Given the description of an element on the screen output the (x, y) to click on. 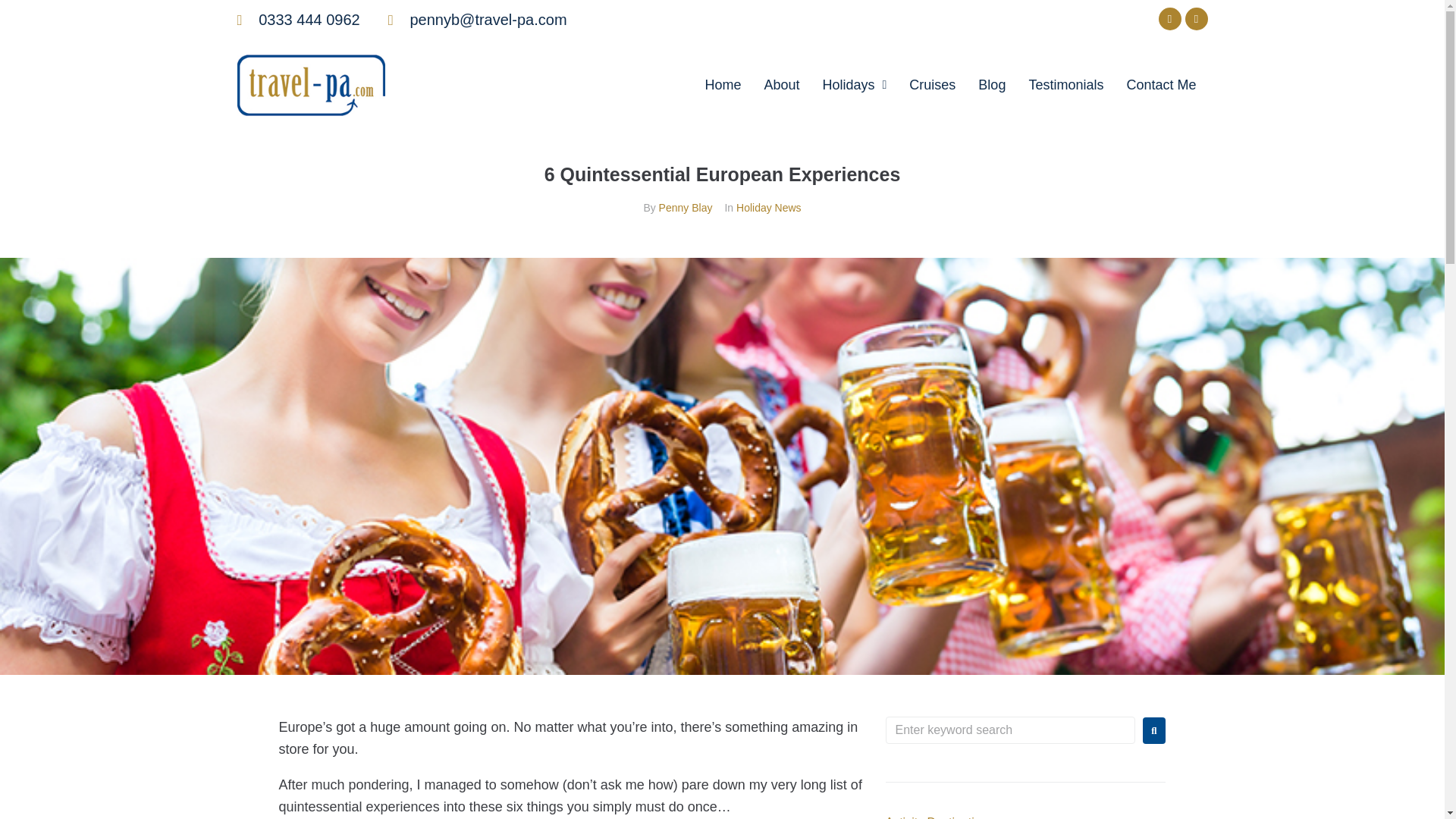
Home (722, 84)
0333 444 0962 (297, 19)
Holiday News (769, 207)
Cruises (932, 84)
Holidays (854, 84)
Blog (991, 84)
Activity Destinations (939, 817)
Testimonials (1065, 84)
Penny Blay (686, 207)
Contact Me (1161, 84)
About (781, 84)
